Given the description of an element on the screen output the (x, y) to click on. 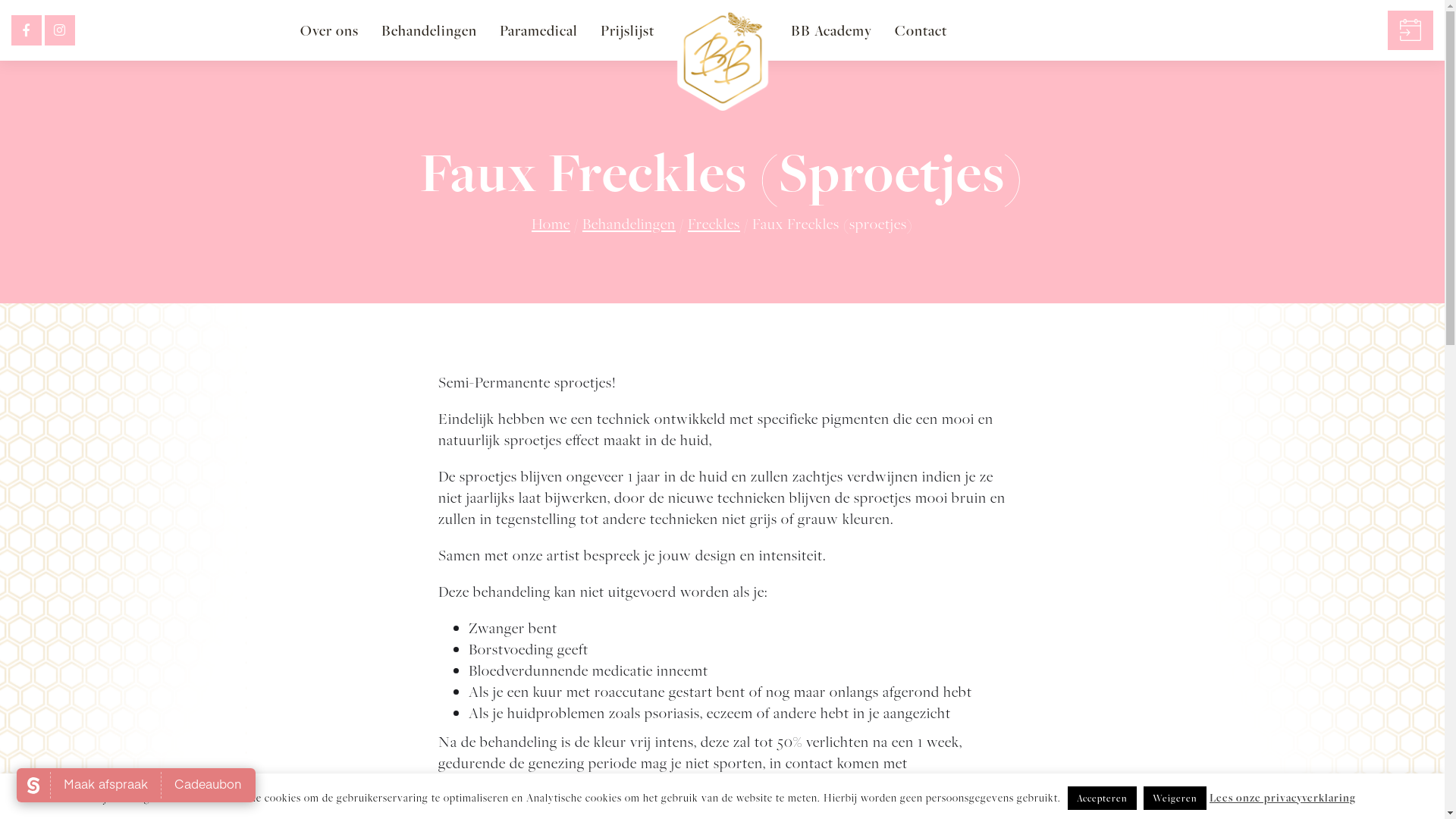
Lees onze privacyverklaring Element type: text (1282, 797)
Home Element type: text (550, 223)
Freckles Element type: text (713, 223)
Weigeren Element type: text (1174, 797)
Over ons Element type: text (328, 29)
Contact Element type: text (919, 29)
Paramedical Element type: text (538, 29)
Accepteren Element type: text (1101, 797)
BB Academy Element type: text (831, 29)
Behandelingen Element type: text (628, 223)
Prijslijst Element type: text (626, 29)
Behandelingen Element type: text (429, 29)
